Given the description of an element on the screen output the (x, y) to click on. 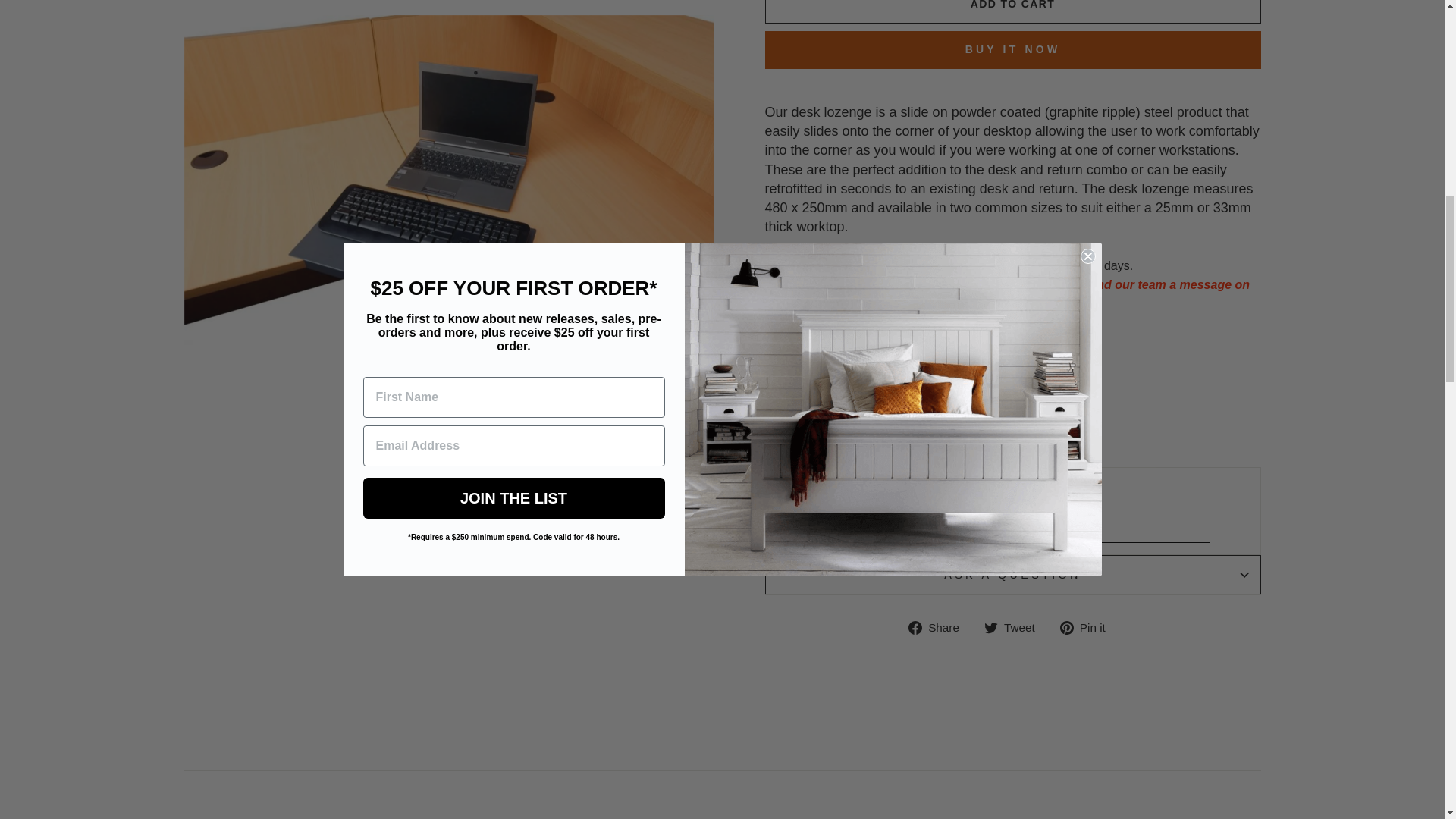
twitter (990, 627)
Tweet on Twitter (1015, 626)
Pin on Pinterest (1087, 626)
Share on Facebook (939, 626)
